Given the description of an element on the screen output the (x, y) to click on. 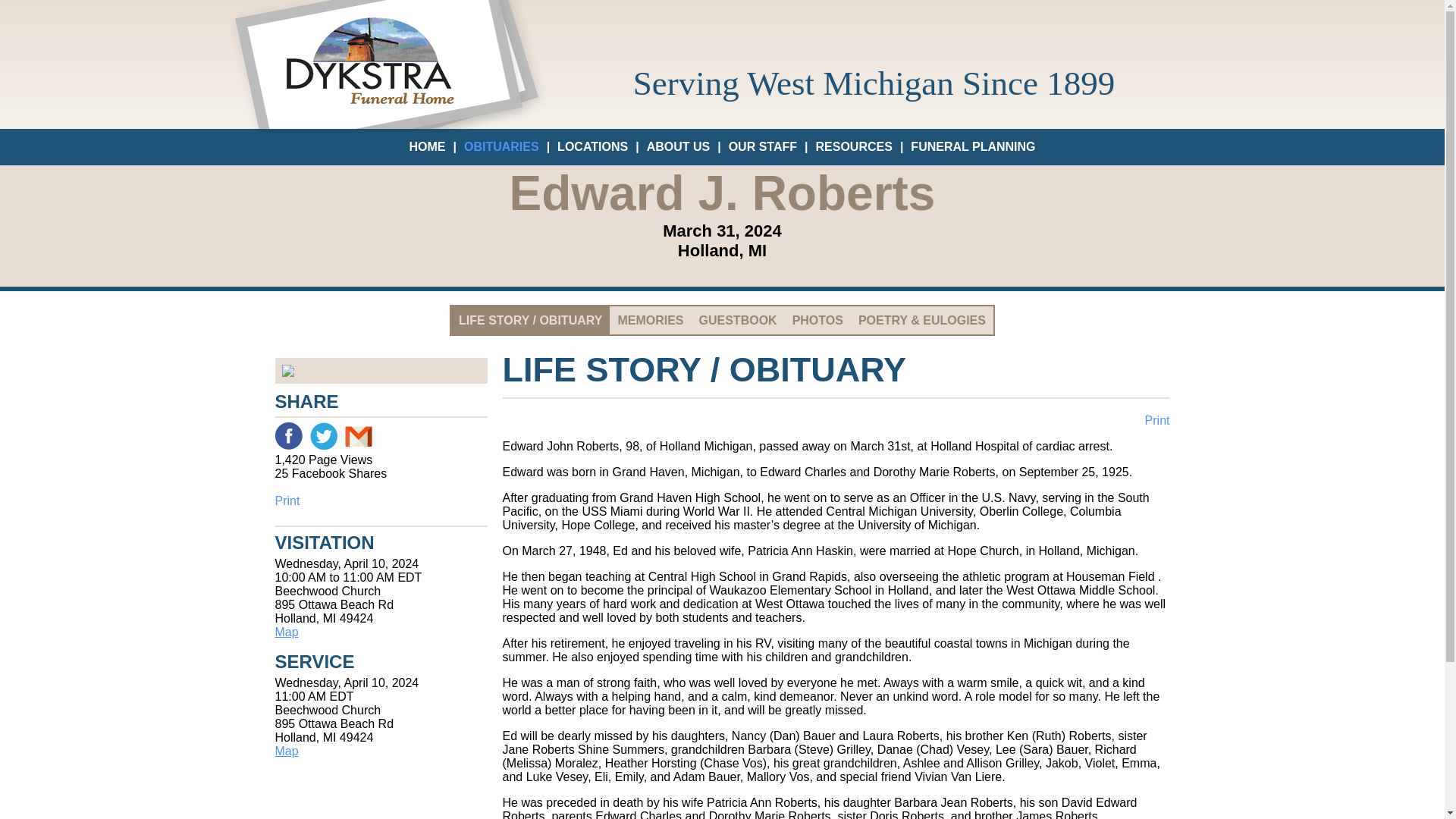
ABOUT US (678, 146)
FUNERAL PLANNING (973, 146)
Map (286, 631)
Twitter (322, 435)
OUR STAFF (762, 146)
Email (357, 435)
MEMORIES (650, 319)
HOME (427, 146)
PHOTOS (817, 319)
OBITUARIES (501, 146)
Print (1157, 420)
GUESTBOOK (737, 319)
RESOURCES (853, 146)
LOCATIONS (592, 146)
Edward J. Roberts (380, 370)
